Given the description of an element on the screen output the (x, y) to click on. 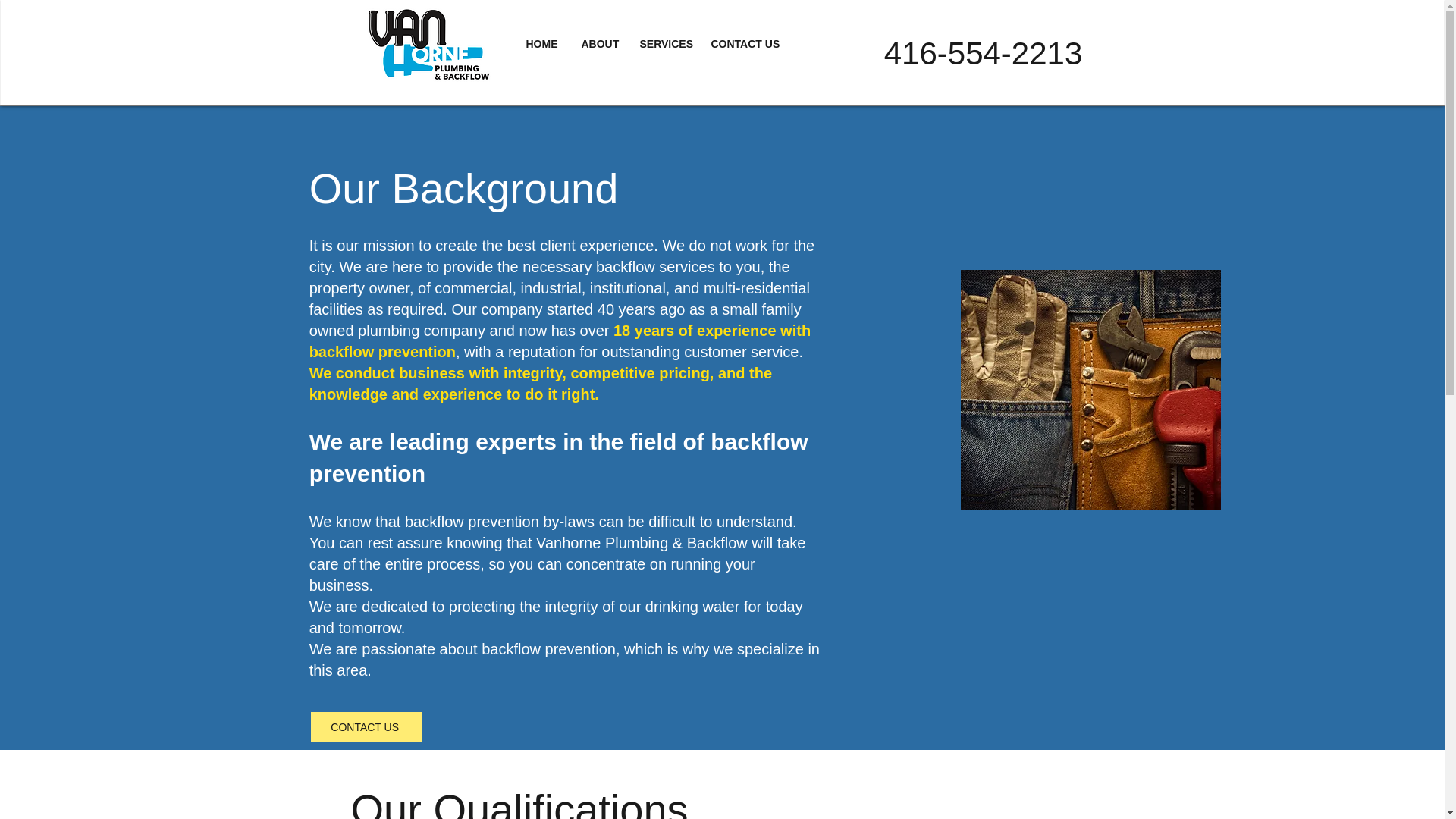
SERVICES (662, 44)
CONTACT US (742, 44)
HOME (541, 44)
CONTACT US (366, 726)
ABOUT (599, 44)
